Given the description of an element on the screen output the (x, y) to click on. 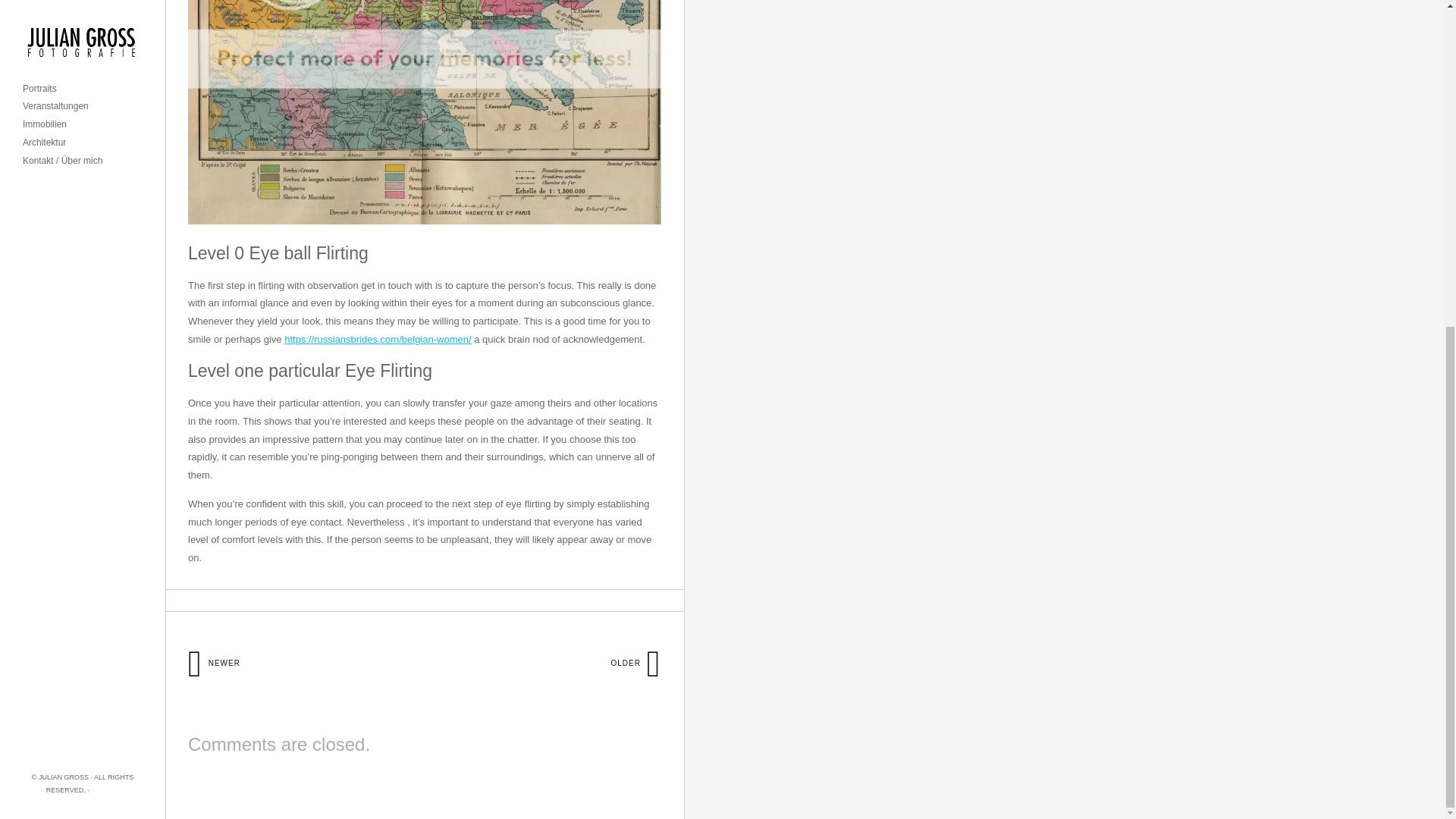
OLDER (636, 663)
IMPRINT (104, 251)
NEWER (213, 663)
